Given the description of an element on the screen output the (x, y) to click on. 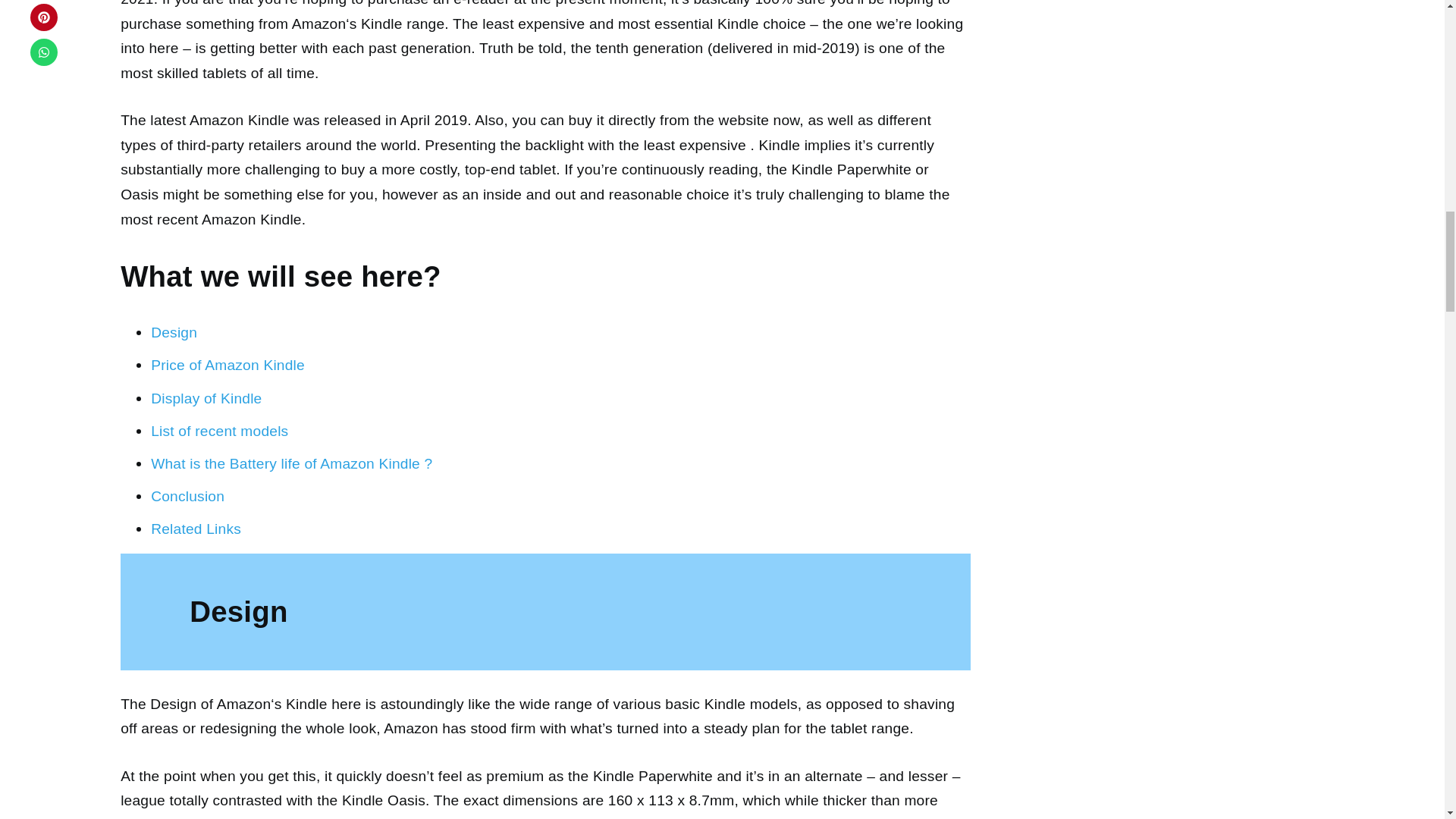
Conclusion (187, 496)
Design (173, 332)
What is the Battery life of Amazon Kindle ? (291, 463)
Price of Amazon Kindle (227, 365)
Display of Kindle (206, 398)
List of recent models (219, 430)
Related Links (196, 528)
